Given the description of an element on the screen output the (x, y) to click on. 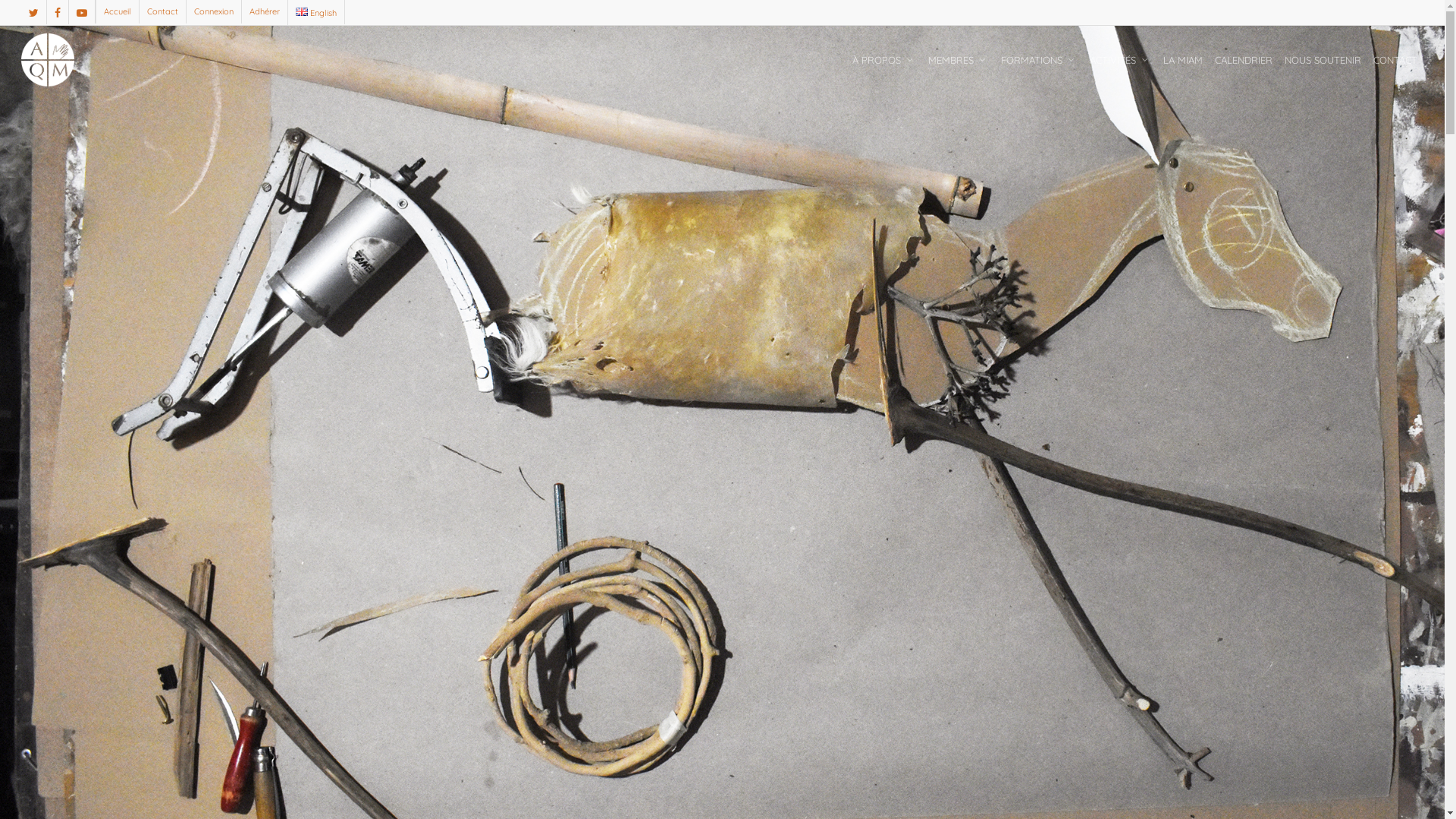
English Element type: text (315, 12)
Contact Element type: text (161, 11)
Accueil Element type: text (116, 11)
NOUS SOUTENIR Element type: text (1322, 60)
CONTACT Element type: text (1395, 60)
Connexion Element type: text (213, 11)
LA MIAM Element type: text (1182, 60)
MEMBRES Element type: text (958, 60)
CALENDRIER Element type: text (1243, 60)
FORMATIONS Element type: text (1038, 60)
